Given the description of an element on the screen output the (x, y) to click on. 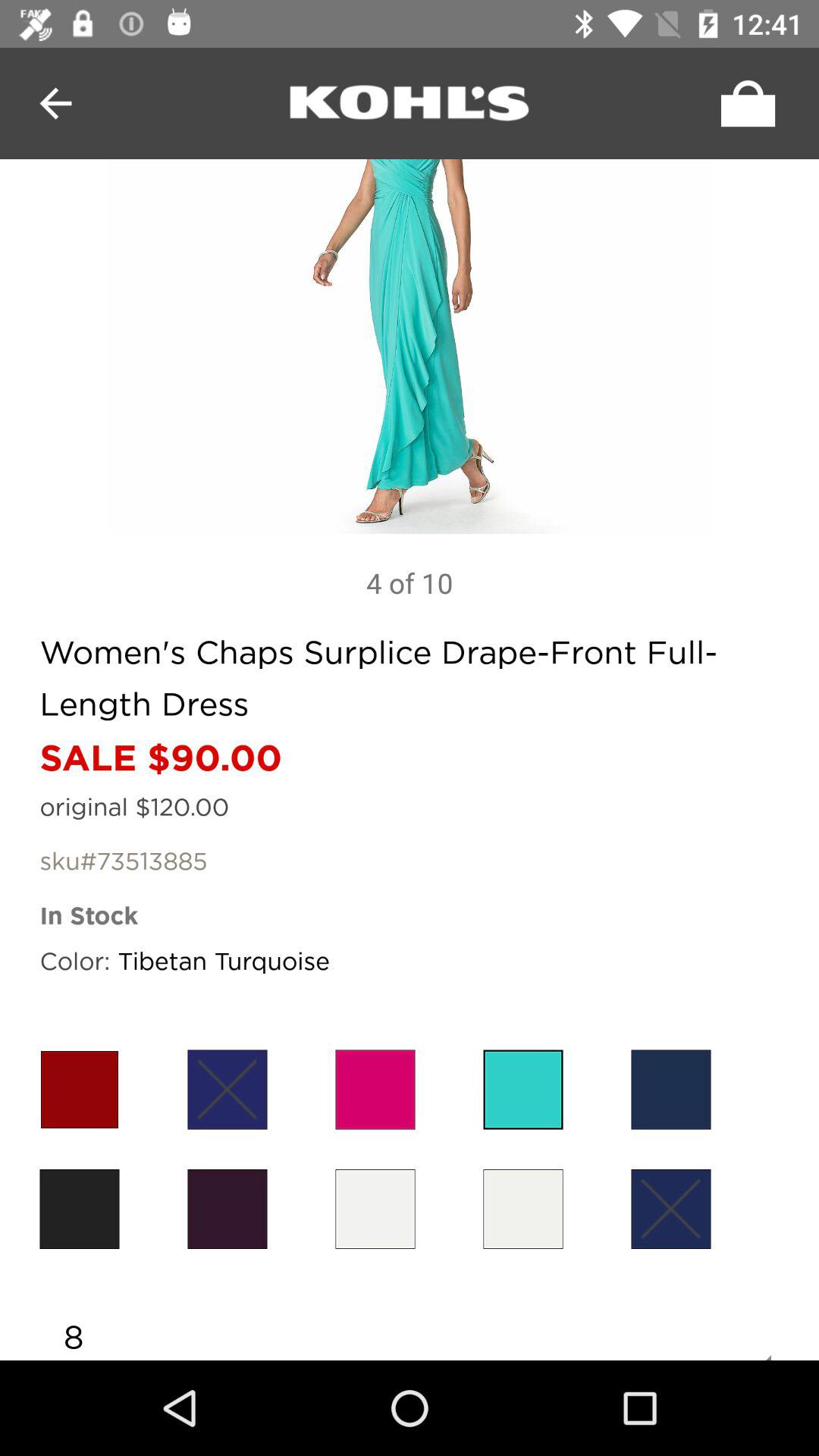
change dress color to turquoise (523, 1089)
